Given the description of an element on the screen output the (x, y) to click on. 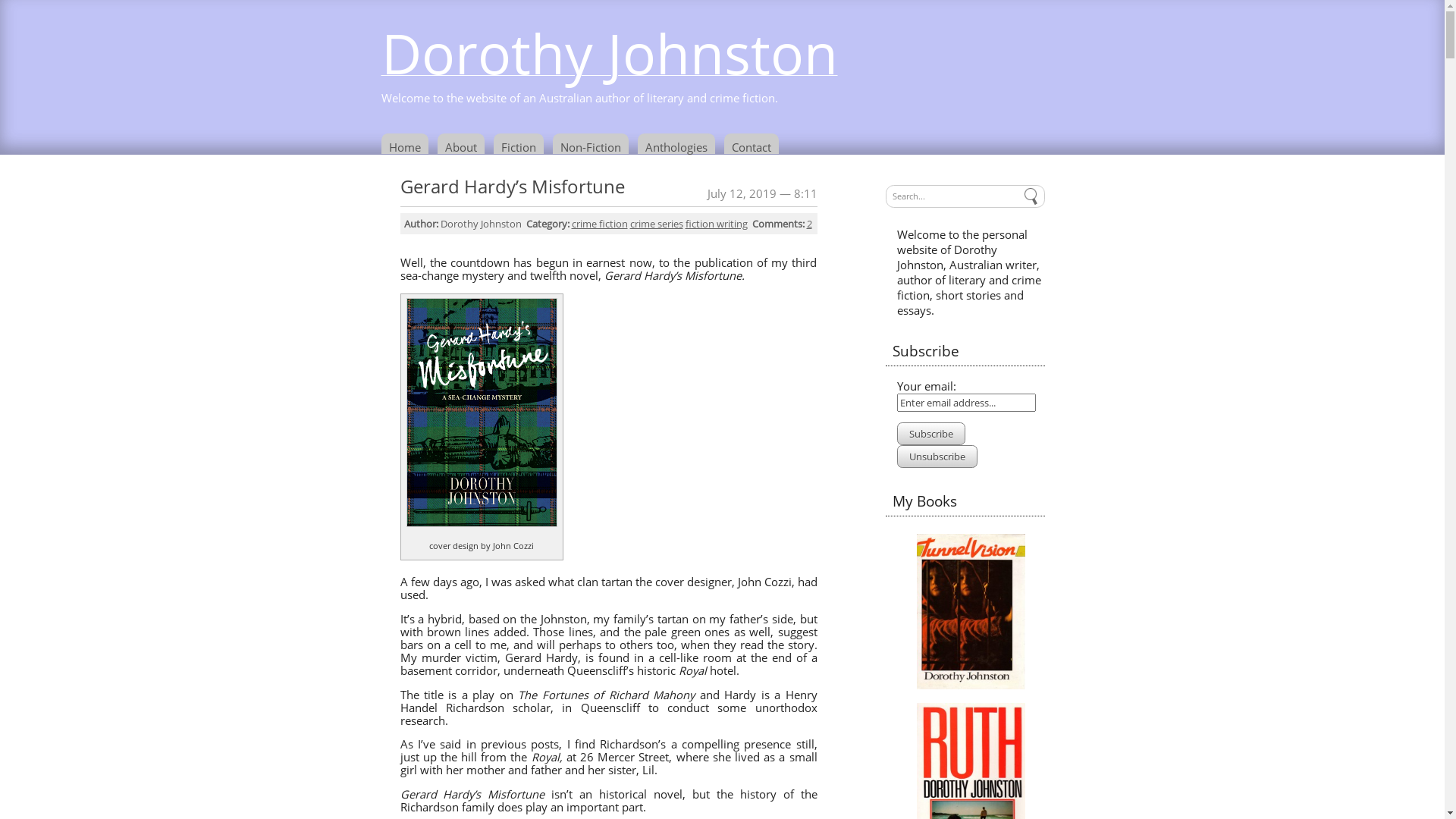
Anthologies Element type: text (678, 143)
fiction writing Element type: text (716, 223)
Non-Fiction Element type: text (592, 143)
Contact Element type: text (753, 143)
crime series Element type: text (655, 223)
Fiction Element type: text (520, 143)
2 Element type: text (809, 223)
About Element type: text (462, 143)
Subscribe Element type: text (930, 433)
Home Element type: text (406, 143)
Dorothy Johnston Element type: text (608, 69)
Unsubscribe Element type: text (936, 456)
crime fiction Element type: text (599, 223)
